Given the description of an element on the screen output the (x, y) to click on. 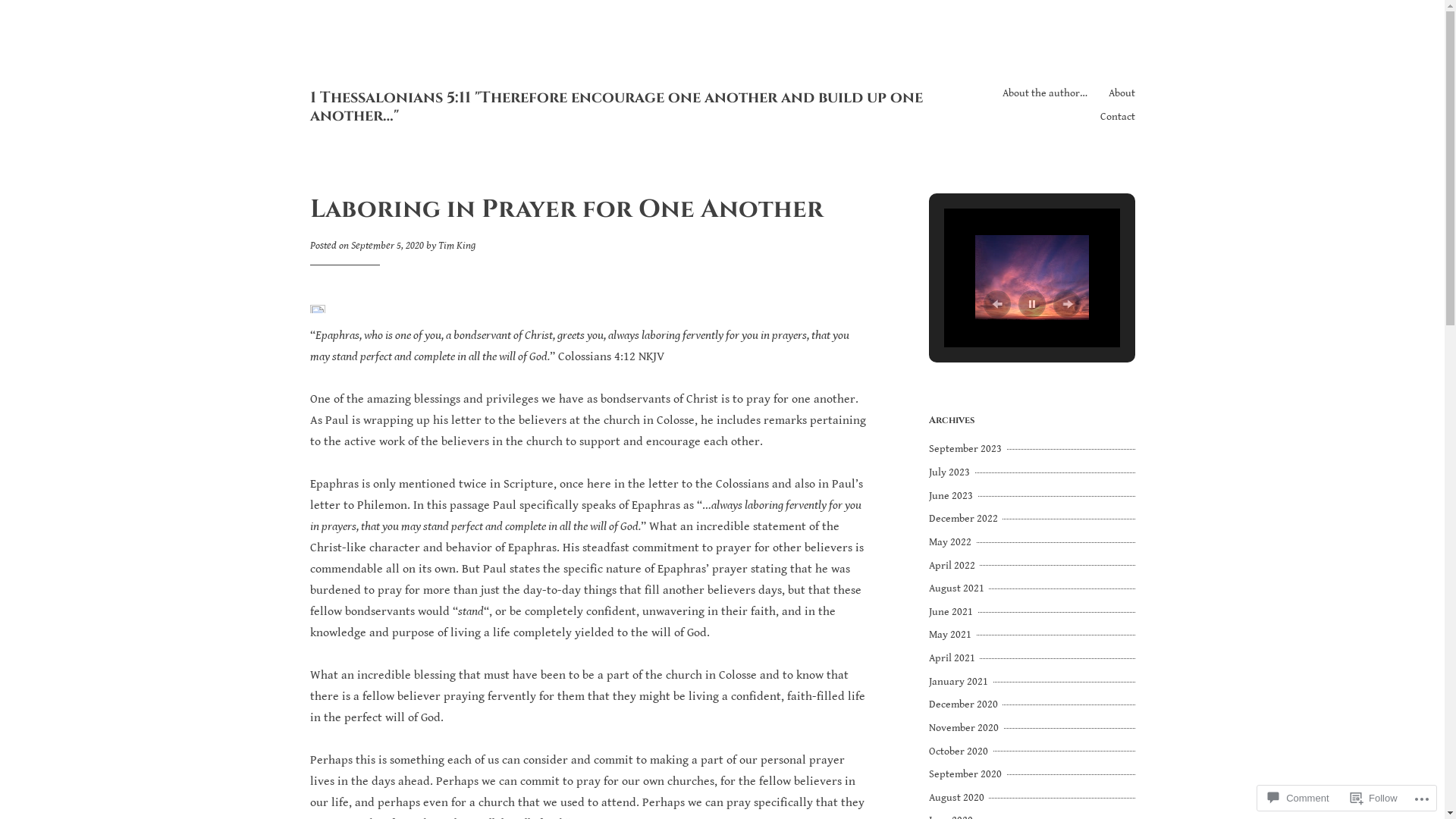
Tim King Element type: text (456, 245)
September 2023 Element type: text (966, 448)
Comment Element type: text (1297, 797)
June 2021 Element type: text (952, 611)
img_3355 Element type: hover (1031, 277)
Follow Element type: text (1373, 797)
April 2021 Element type: text (953, 658)
June 2023 Element type: text (952, 495)
July 2023 Element type: text (950, 472)
September 5, 2020 Element type: text (386, 245)
November 2020 Element type: text (965, 727)
December 2022 Element type: text (964, 518)
December 2020 Element type: text (964, 704)
Contact Element type: text (1116, 116)
May 2022 Element type: text (951, 542)
August 2020 Element type: text (958, 797)
About Element type: text (1121, 93)
January 2021 Element type: text (959, 681)
October 2020 Element type: text (959, 751)
May 2021 Element type: text (951, 634)
August 2021 Element type: text (958, 588)
September 2020 Element type: text (966, 774)
April 2022 Element type: text (953, 565)
